Given the description of an element on the screen output the (x, y) to click on. 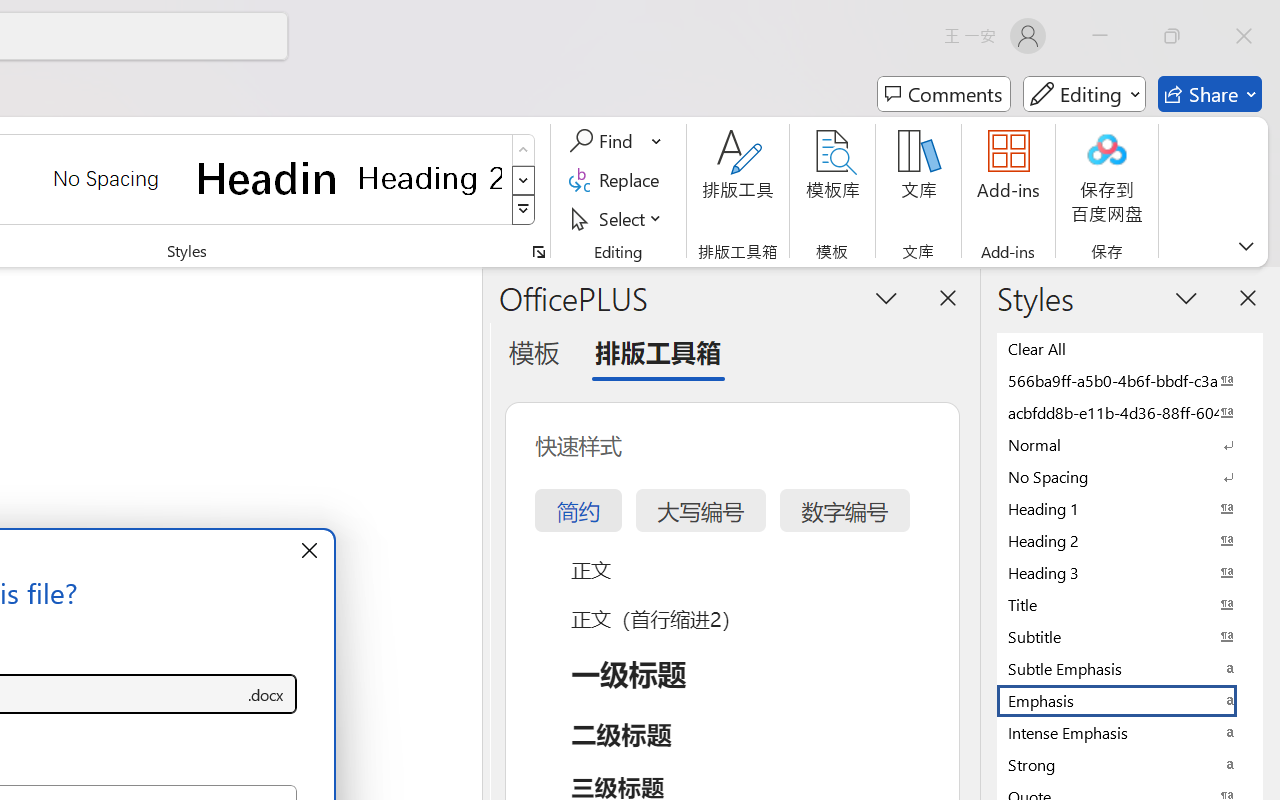
Row up (523, 150)
Comments (943, 94)
Strong (1130, 764)
Minimize (1099, 36)
Heading 2 (429, 178)
Subtitle (1130, 636)
Clear All (1130, 348)
Find (604, 141)
Subtle Emphasis (1130, 668)
Ribbon Display Options (1246, 245)
